Given the description of an element on the screen output the (x, y) to click on. 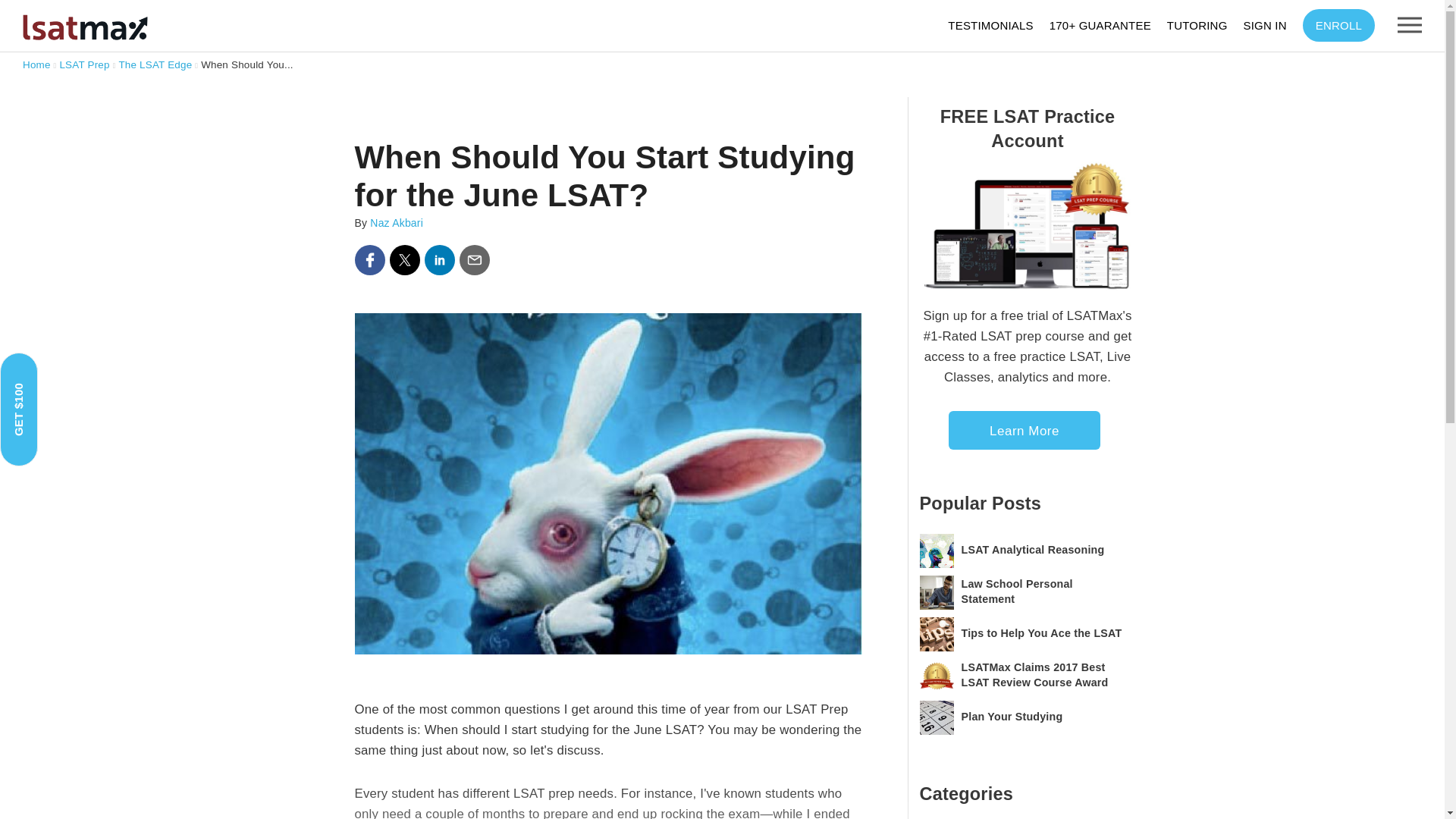
The LSAT Edge (154, 64)
TUTORING (1205, 24)
Naz Akbari (396, 223)
SIGN IN (1273, 24)
TESTIMONIALS (997, 24)
Home (36, 64)
LSAT Prep (84, 64)
ENROLL (1338, 25)
